Given the description of an element on the screen output the (x, y) to click on. 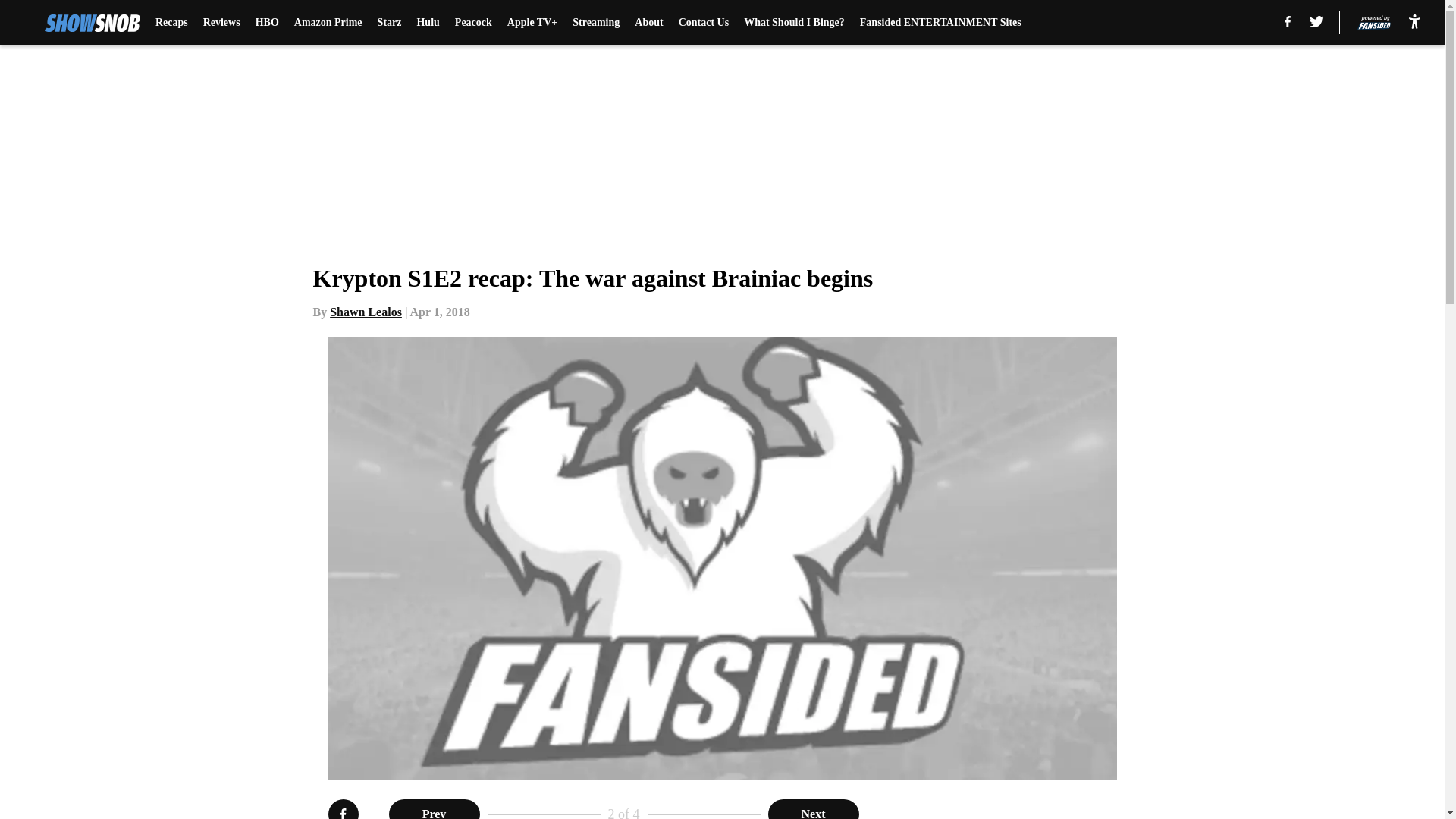
Starz (389, 22)
Next (813, 809)
Amazon Prime (328, 22)
Fansided ENTERTAINMENT Sites (941, 22)
Shawn Lealos (365, 311)
Hulu (427, 22)
About (648, 22)
Prev (433, 809)
Streaming (596, 22)
Reviews (221, 22)
HBO (267, 22)
What Should I Binge? (794, 22)
Recaps (171, 22)
Peacock (473, 22)
Contact Us (703, 22)
